Given the description of an element on the screen output the (x, y) to click on. 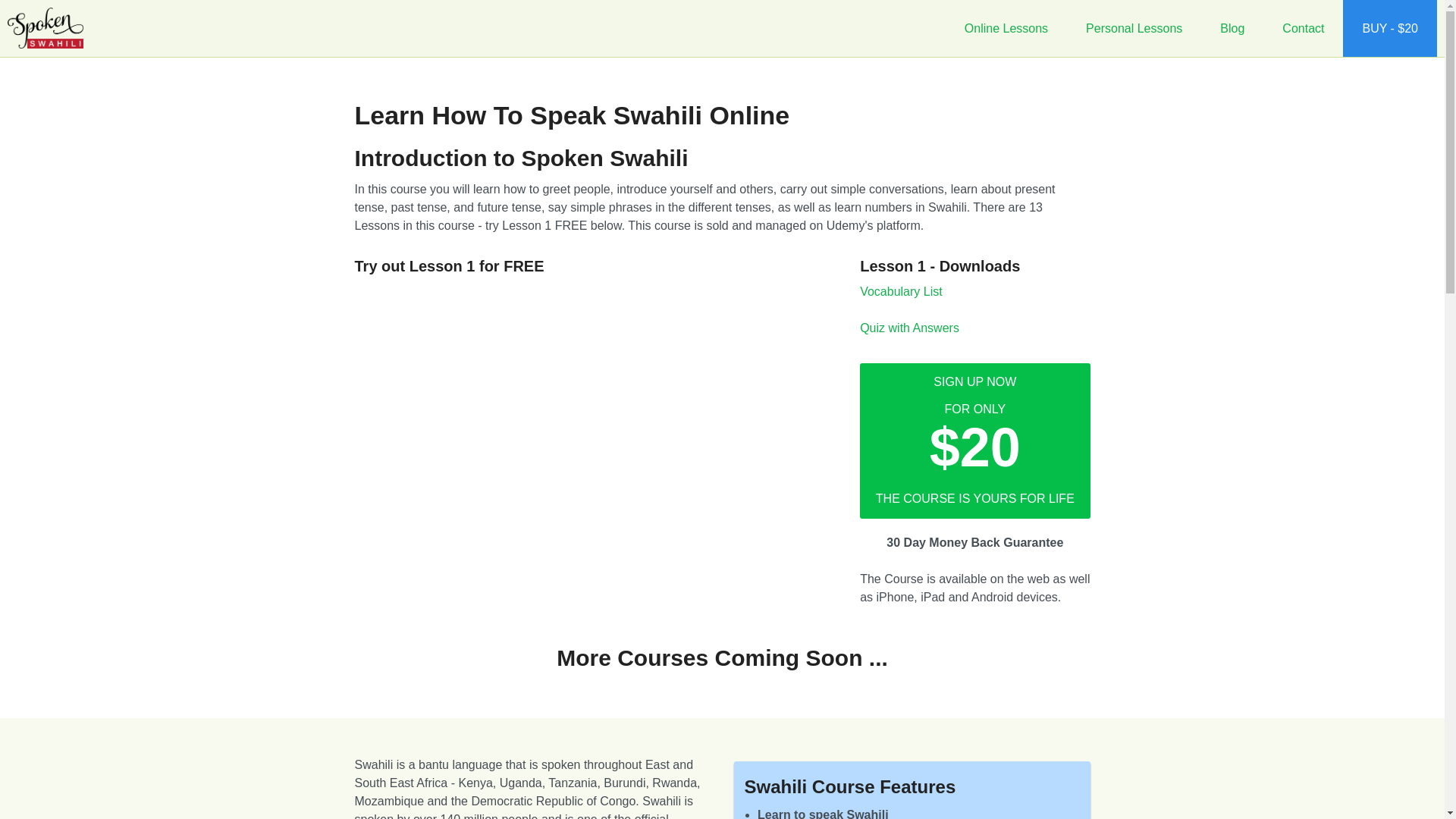
Contact (1302, 28)
Blog (1232, 28)
Online Lessons (1005, 28)
Vocabulary List (901, 291)
Quiz with Answers (909, 327)
Personal Lessons (1134, 28)
